Given the description of an element on the screen output the (x, y) to click on. 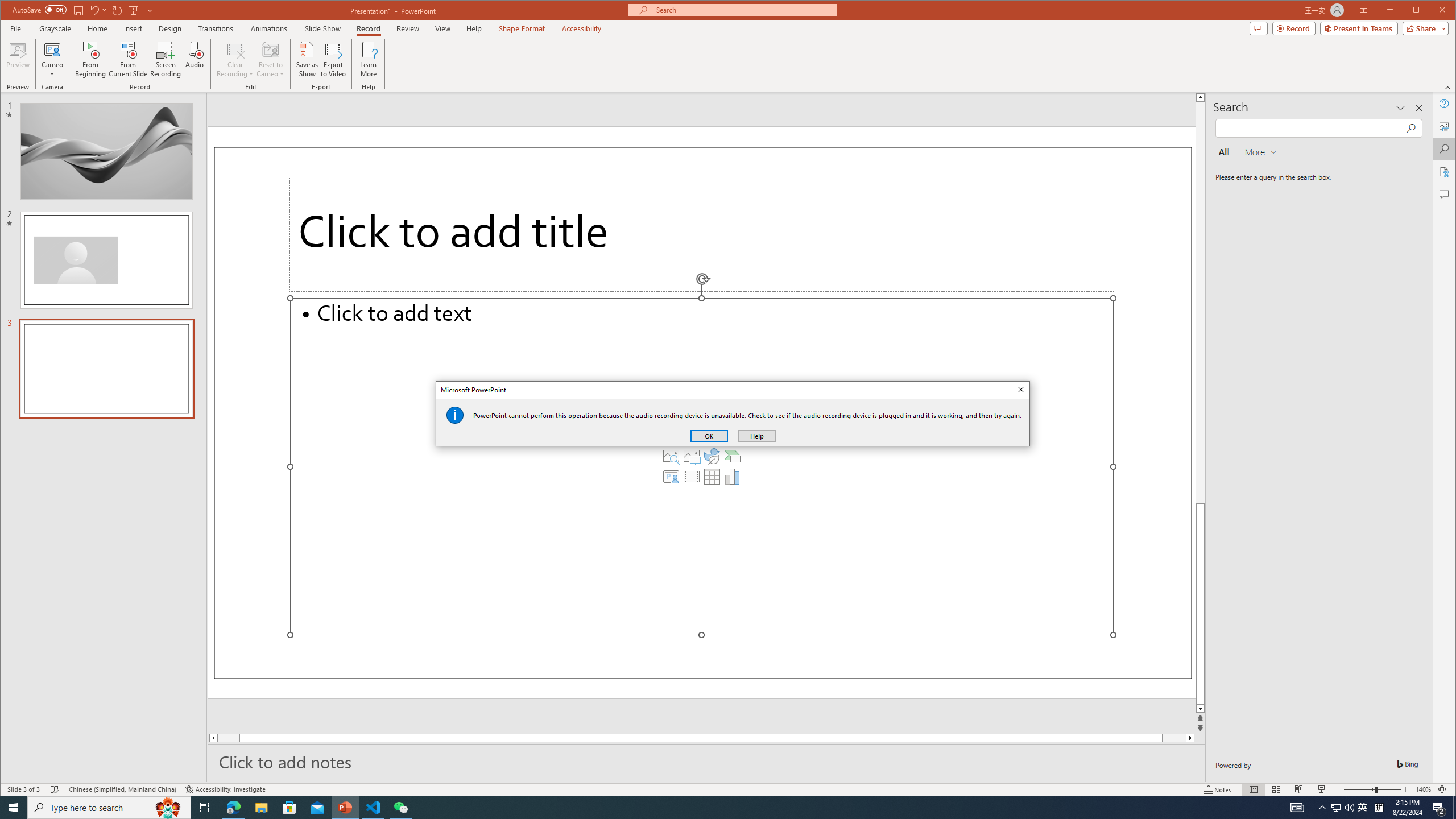
Class: Static (454, 415)
Title TextBox (701, 233)
Zoom 140% (1422, 789)
Running applications (707, 807)
Save as Show (307, 59)
